Given the description of an element on the screen output the (x, y) to click on. 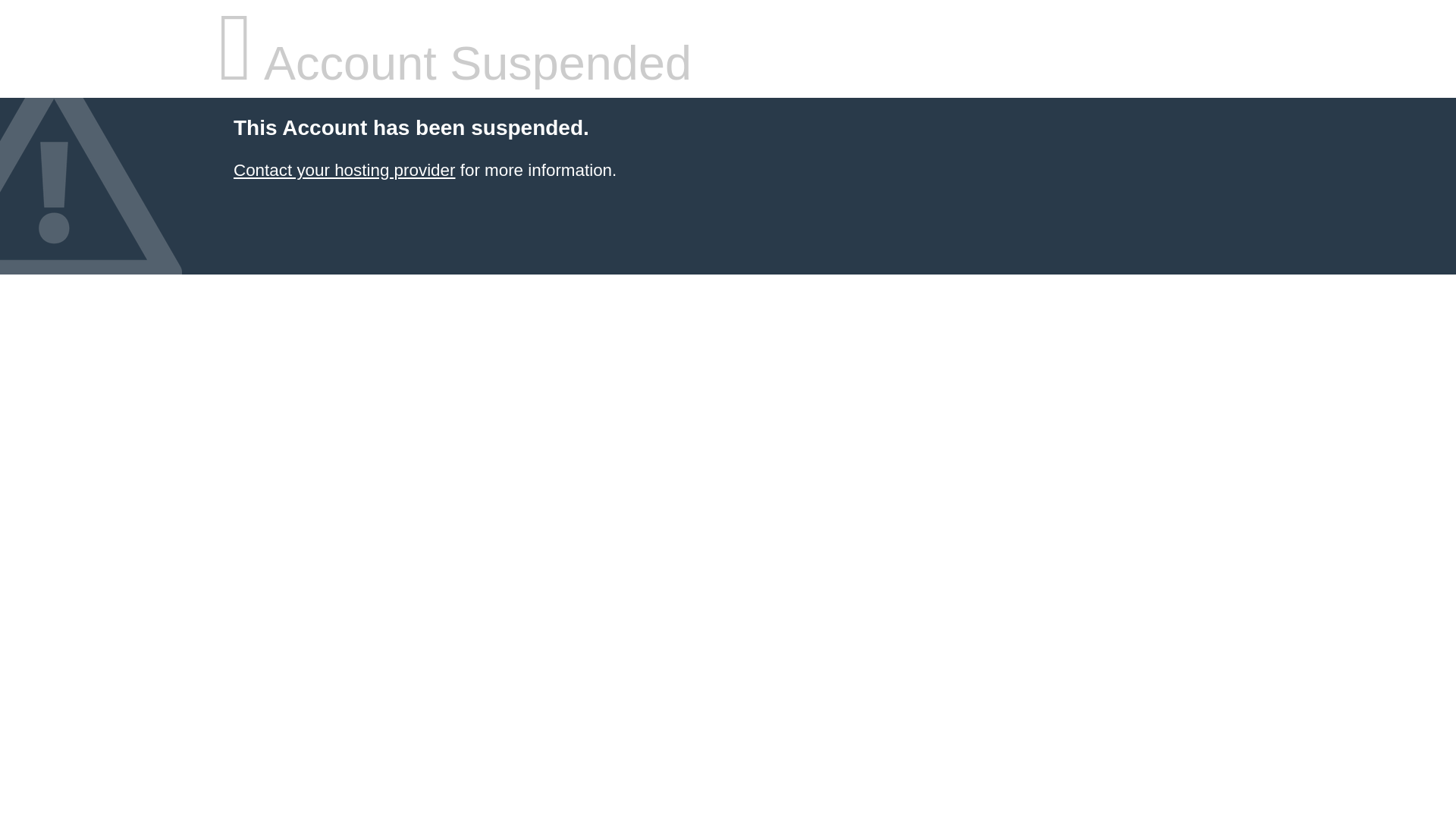
Contact your hosting provider (343, 169)
